Given the description of an element on the screen output the (x, y) to click on. 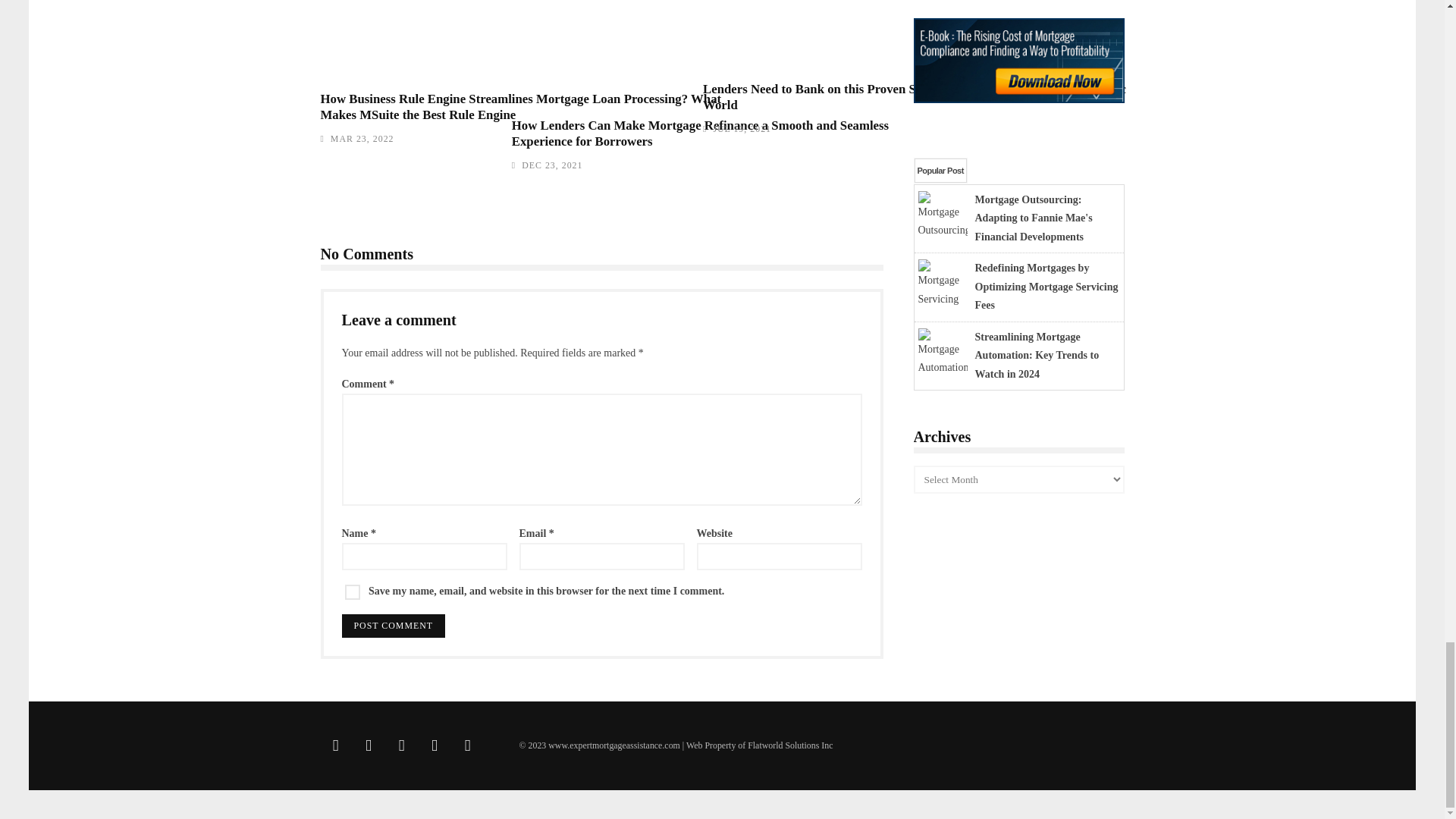
Facebook (368, 746)
Youtube (434, 746)
Post Comment (392, 626)
yes (351, 591)
Post Comment (392, 626)
Instagram (401, 746)
Twitter (335, 746)
